Given the description of an element on the screen output the (x, y) to click on. 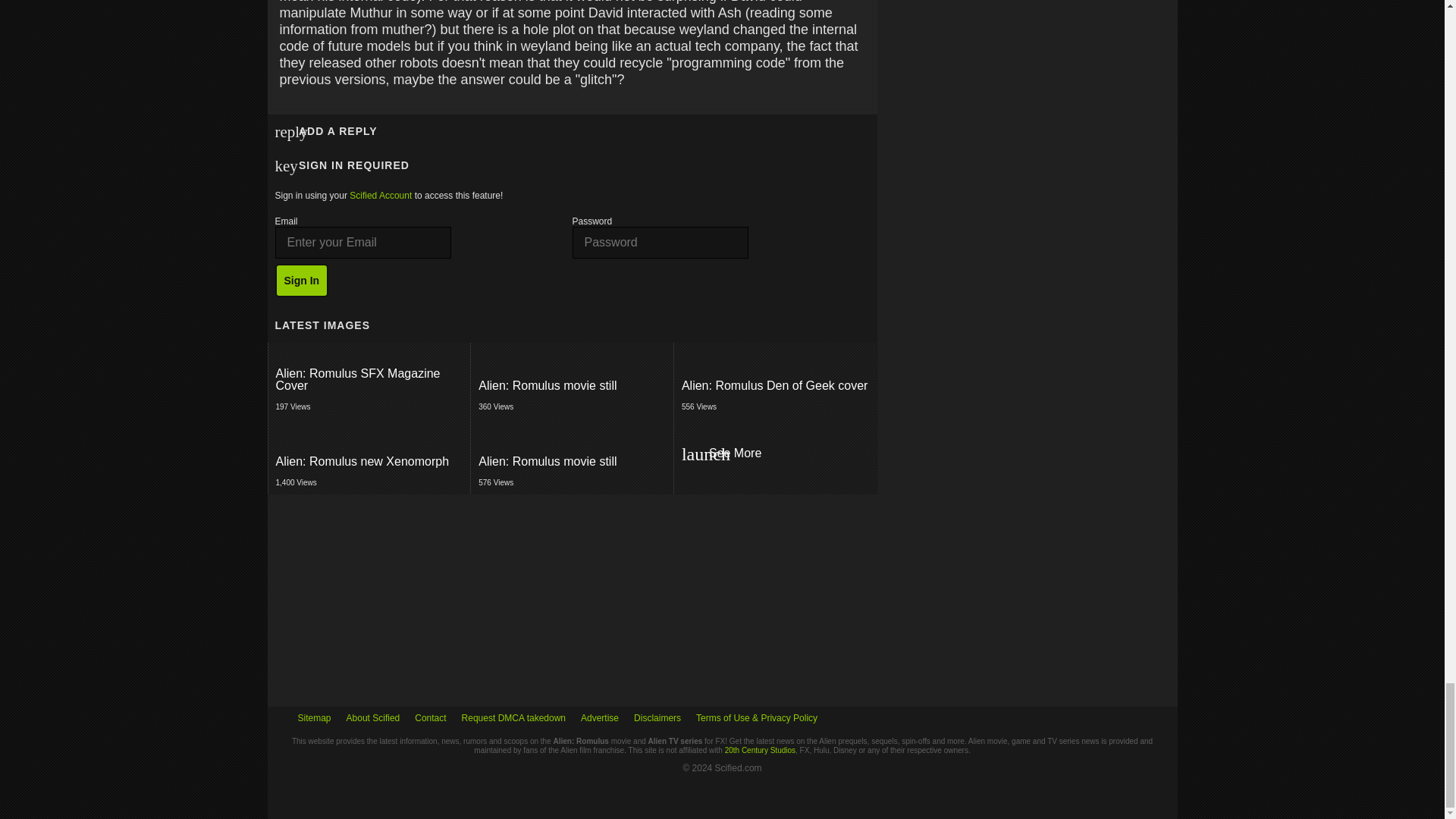
Sign In (302, 280)
See More (775, 454)
Alien: Romulus Den of Geek cover (775, 385)
Alien: Romulus movie still (774, 380)
See More (572, 385)
What is a Scified Account (774, 456)
Scified Account (368, 456)
Alien: Romulus SFX Magazine Cover (380, 195)
Alien: Romulus movie still (368, 380)
